Given the description of an element on the screen output the (x, y) to click on. 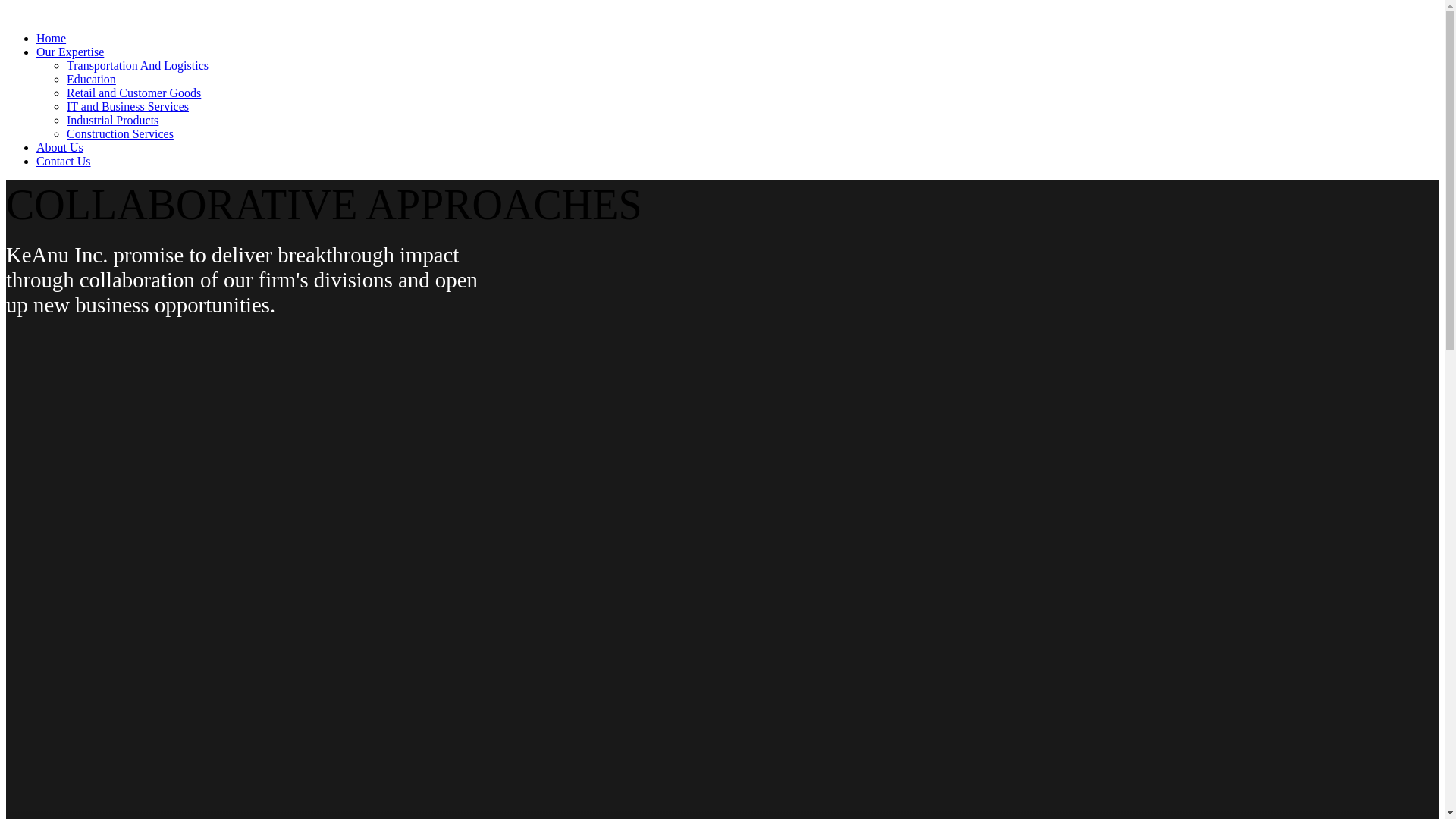
Retail and Customer Goods (133, 92)
Construction Services (119, 133)
Industrial Products (112, 119)
Home (50, 38)
Education (91, 78)
IT and Business Services (127, 106)
Our Expertise (69, 51)
Transportation And Logistics (137, 65)
About Us (59, 146)
Contact Us (63, 160)
